Given the description of an element on the screen output the (x, y) to click on. 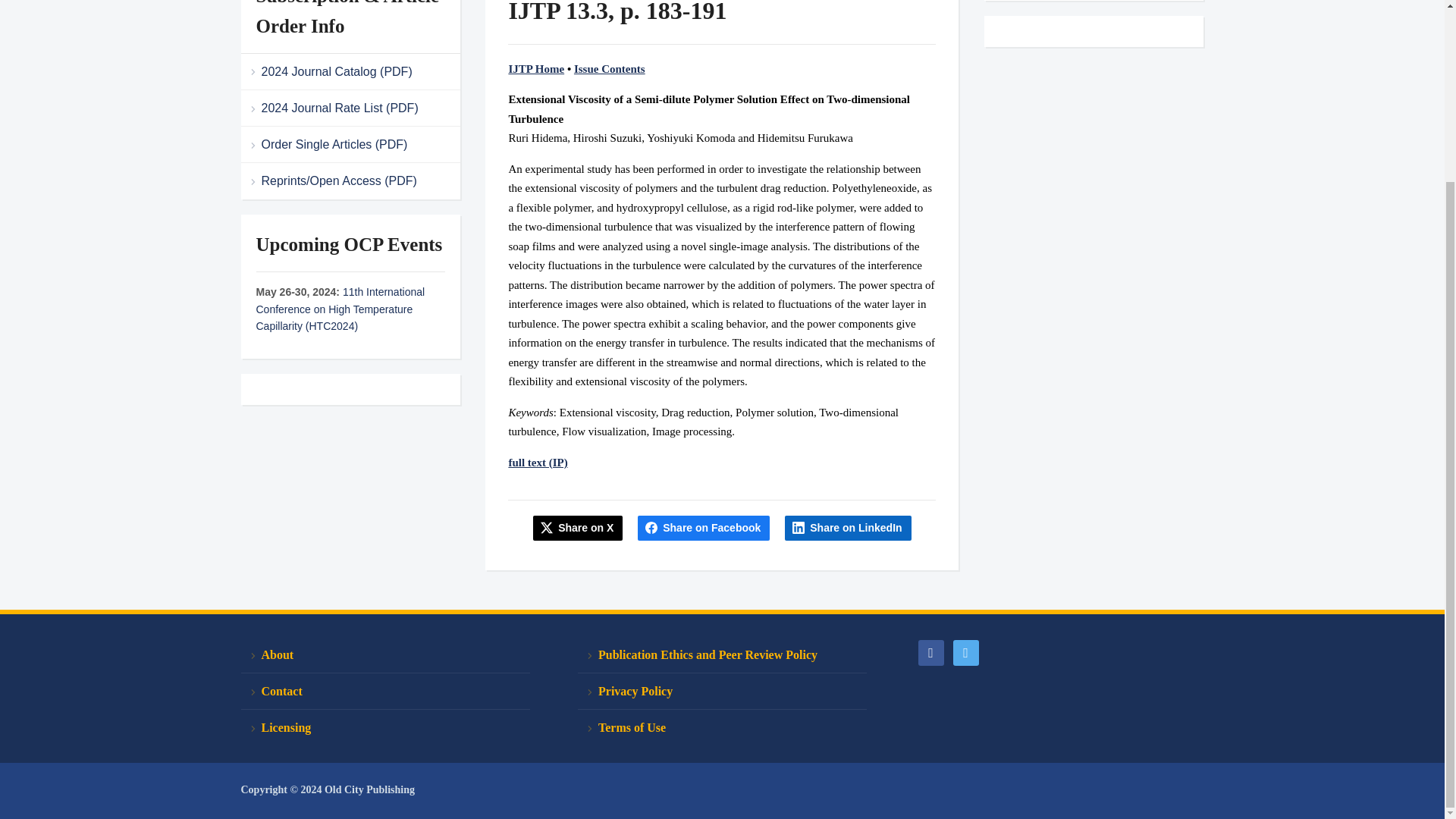
facebook (930, 650)
Terms of Use (722, 727)
Share on LinkedIn (847, 527)
Friend me on Facebook (930, 650)
IJTP Home (536, 69)
Licensing (385, 727)
twitter (965, 650)
About (385, 655)
Share this on X (577, 527)
Privacy Policy (722, 691)
Contact (385, 691)
Share on X (577, 527)
Publication Ethics and Peer Review Policy (722, 655)
Share this on Facebook (703, 527)
Share on LinkedIn (847, 527)
